Given the description of an element on the screen output the (x, y) to click on. 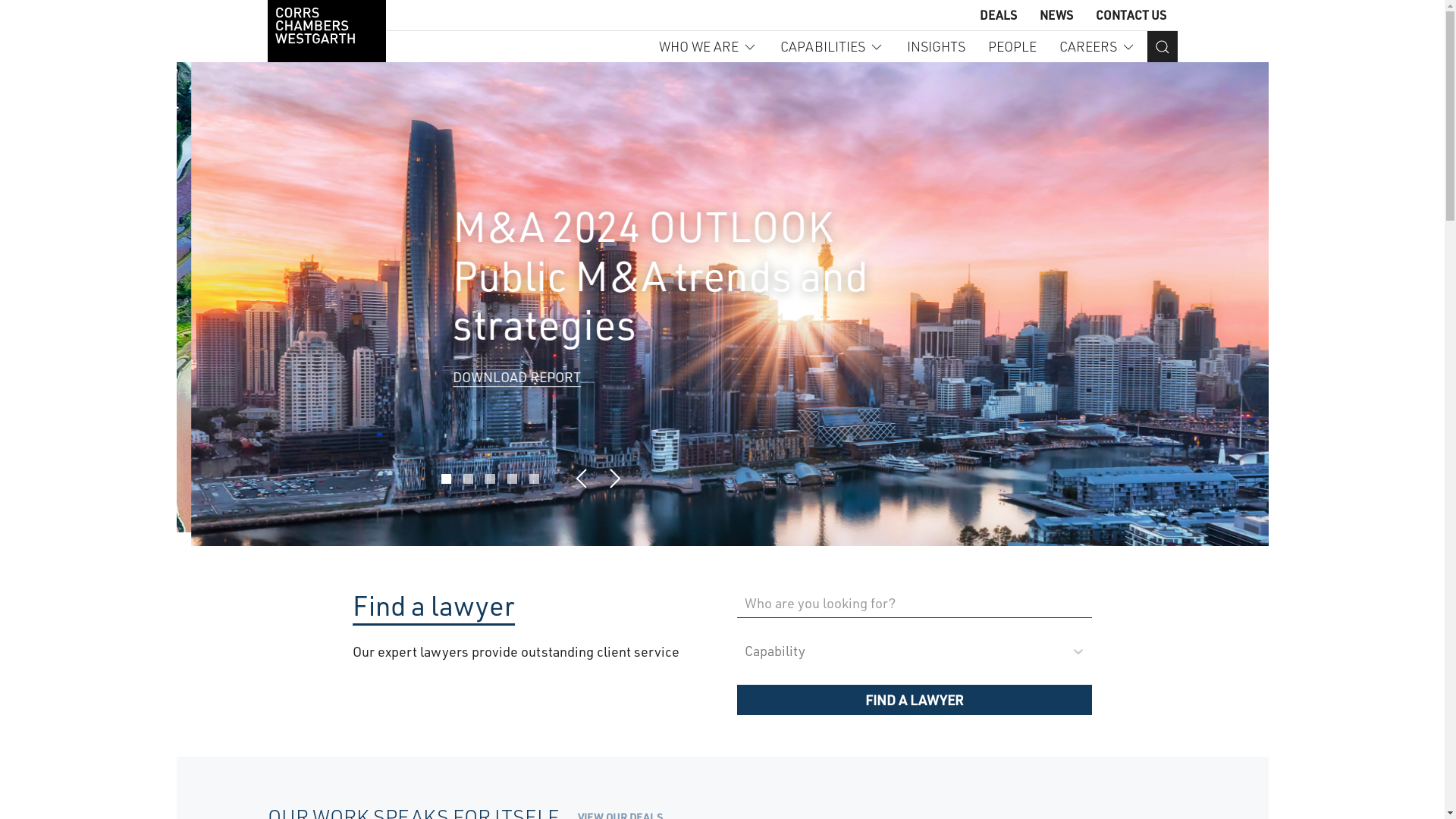
NEWS Element type: text (1055, 15)
CONTACT US Element type: text (1130, 15)
PEOPLE Element type: text (1011, 46)
CAPABILITIES Element type: text (831, 46)
CAREERS Element type: text (1096, 46)
WHO WE ARE Element type: text (707, 46)
VIEW INSIGHT COLLECTION Element type: text (522, 394)
INSIGHTS Element type: text (935, 46)
FIND A LAWYER Element type: text (914, 699)
DEALS Element type: text (997, 15)
